Given the description of an element on the screen output the (x, y) to click on. 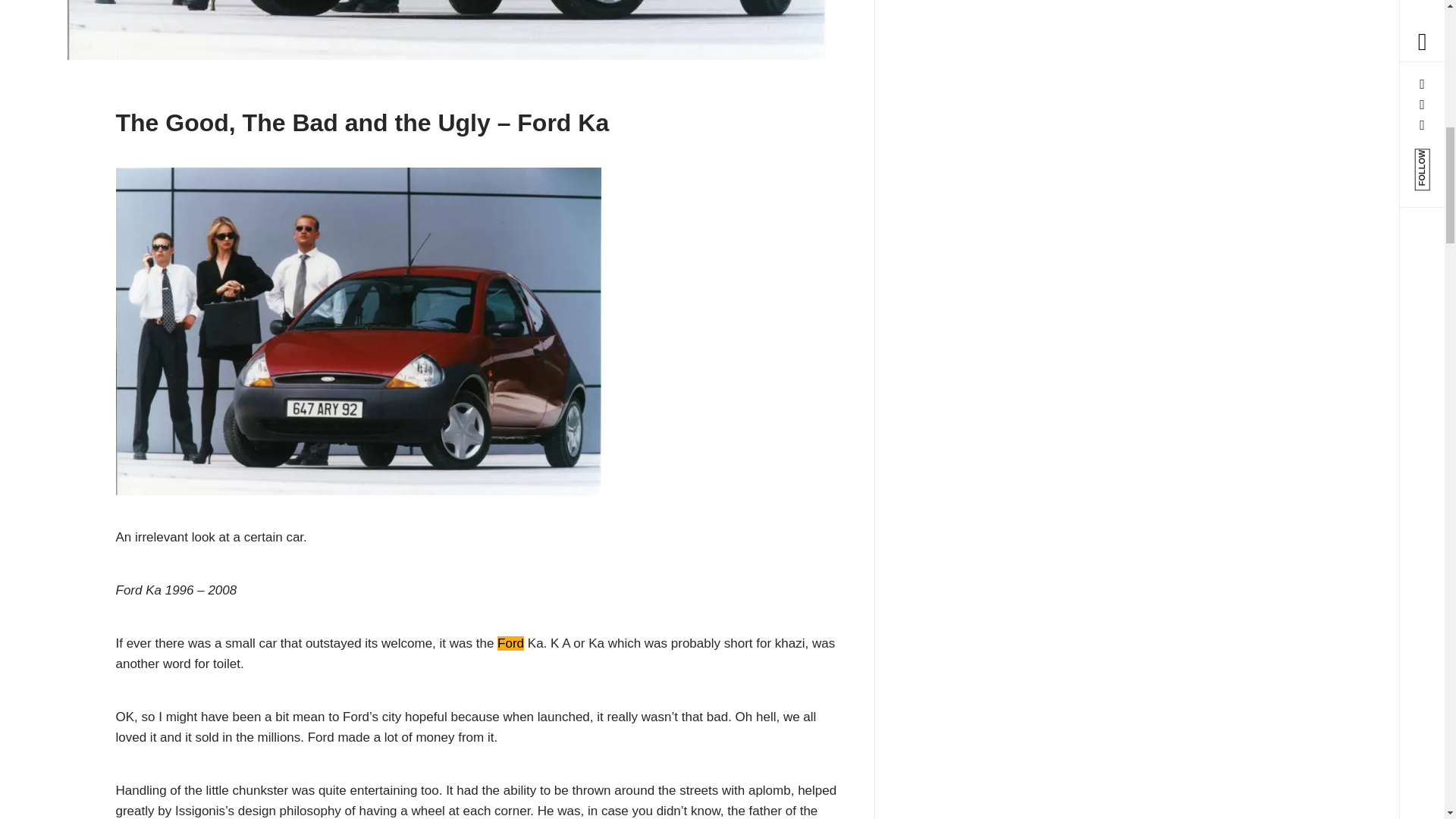
Ford (510, 643)
The Good, The Bad and the Ugly. Ford Ka 1 (445, 29)
